Given the description of an element on the screen output the (x, y) to click on. 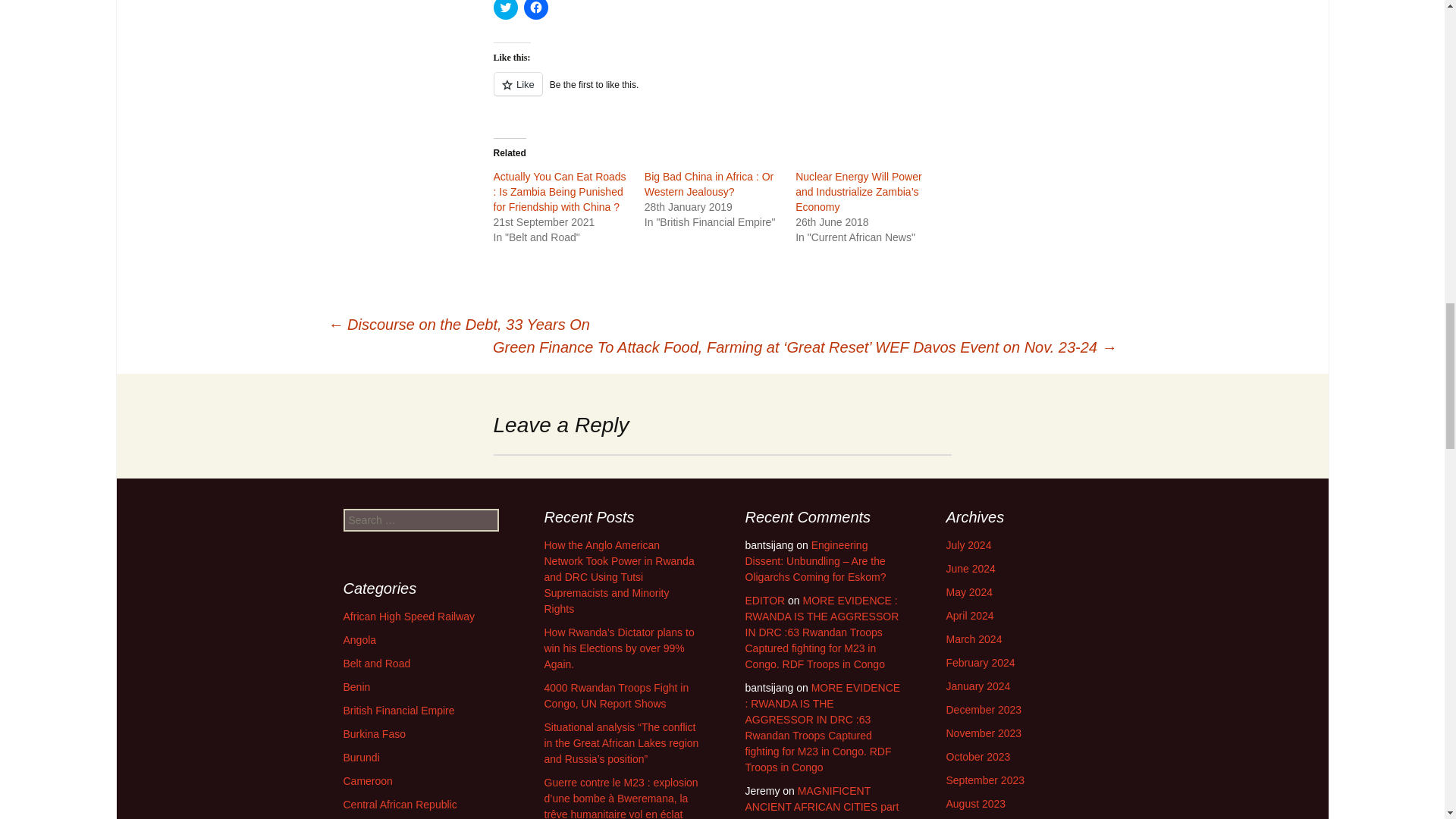
Big Bad China in Africa : Or Western Jealousy? (709, 184)
Like or Reblog (721, 92)
Click to share on Facebook (534, 9)
Click to share on Twitter (504, 9)
